Given the description of an element on the screen output the (x, y) to click on. 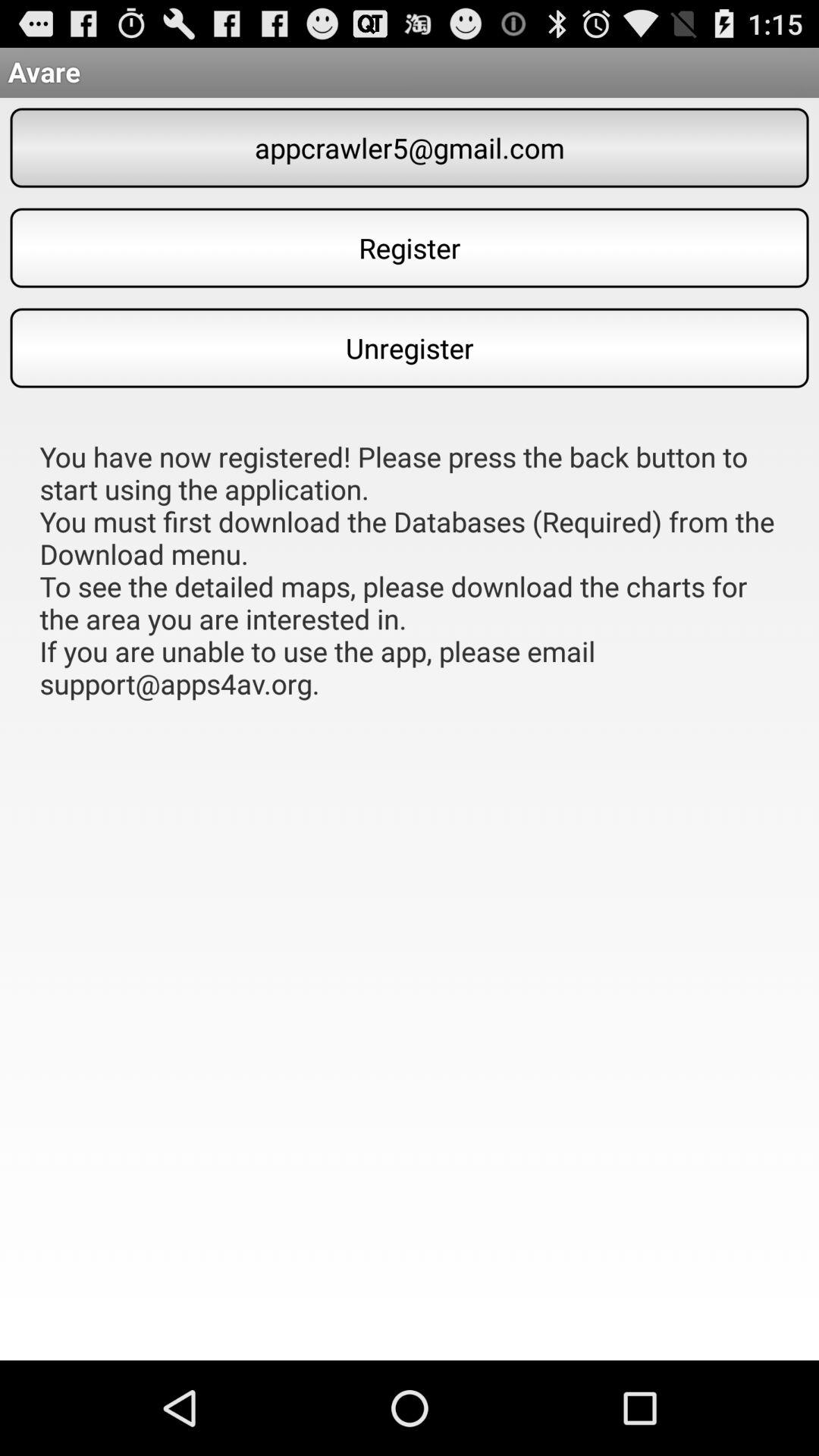
turn on the item below appcrawler5@gmail.com item (409, 247)
